Given the description of an element on the screen output the (x, y) to click on. 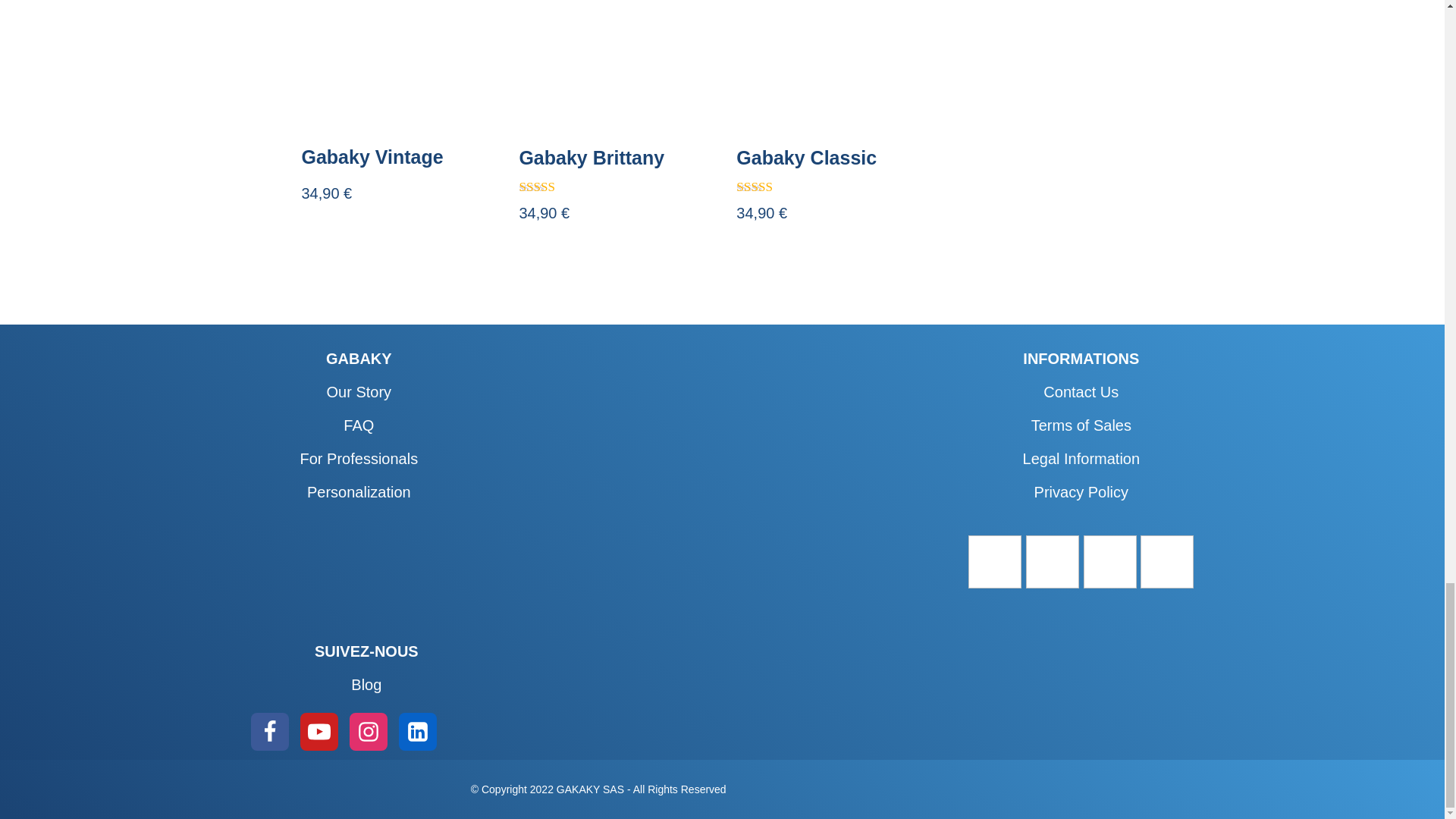
FAQ (358, 425)
Blog (365, 684)
Legal Information (1081, 458)
Contact Us (1080, 392)
Privacy Policy (1080, 492)
For Professionals (359, 458)
Youtube (318, 731)
Personalization (358, 492)
Facebook (269, 731)
Our Story (358, 392)
Instagram (368, 731)
Terms of Sales (1080, 425)
LinkedIn (417, 731)
